Given the description of an element on the screen output the (x, y) to click on. 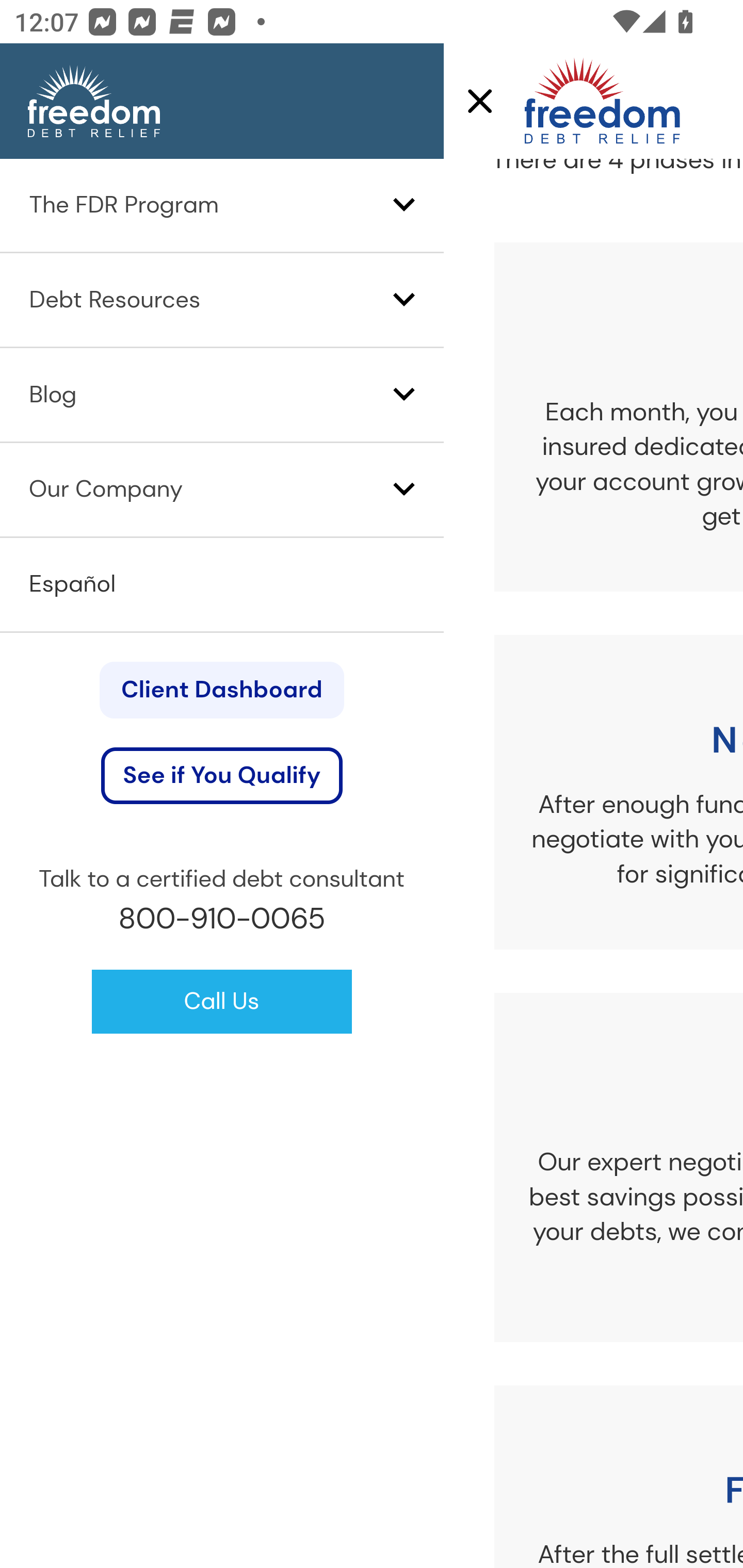
Freedom Debt Relief (573, 101)
menu toggle (472, 101)
The FDR Program navbar-arrow (222, 206)
Debt Resources navbar-arrow (222, 299)
Blog navbar-arrow (222, 394)
Our Company navbar-arrow (222, 488)
Español (73, 585)
Client Dashboard (220, 689)
See if You Qualify (222, 776)
800-910-0065 (221, 919)
Call Us (221, 1001)
